Given the description of an element on the screen output the (x, y) to click on. 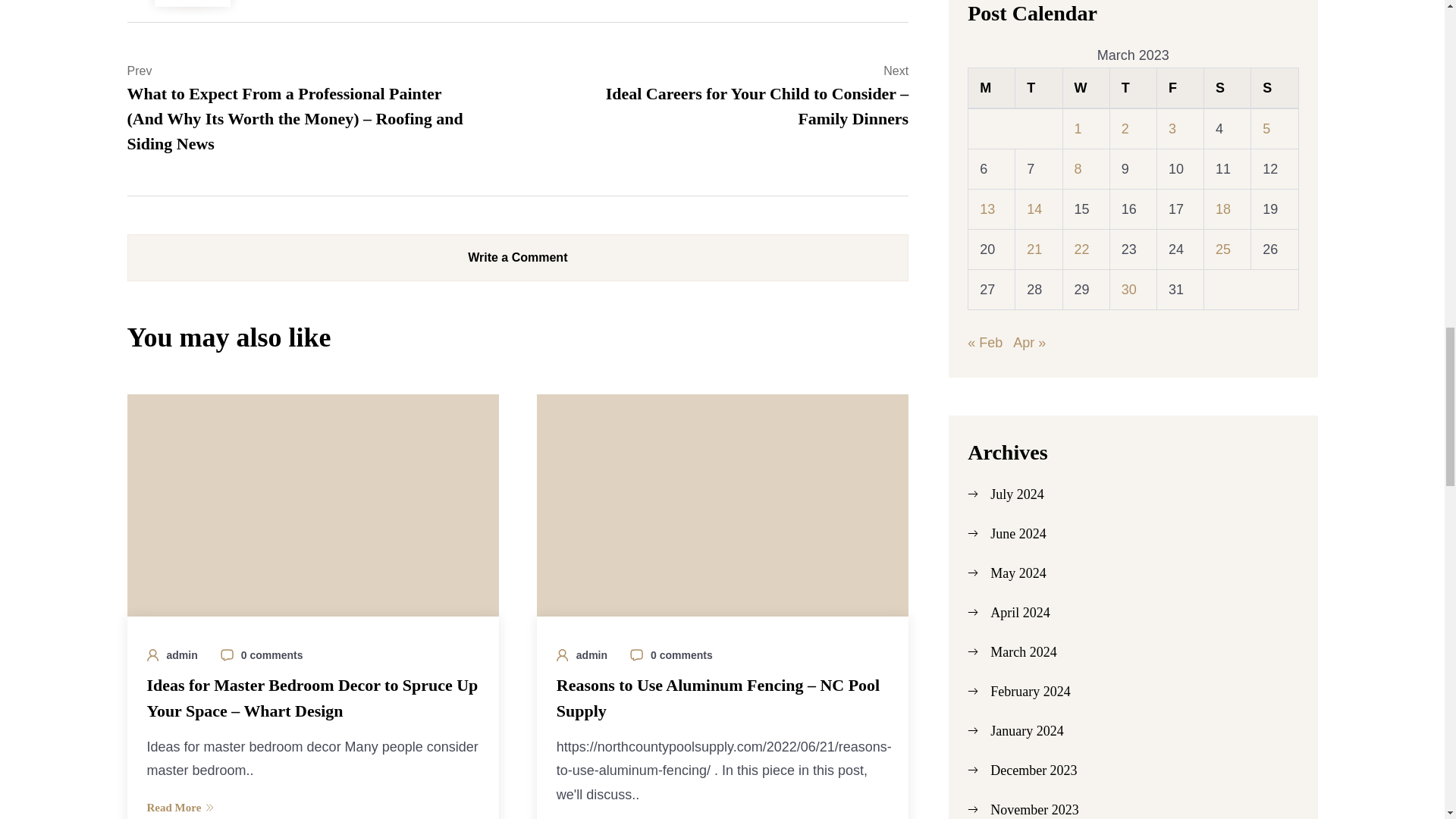
Friday (1180, 87)
Tuesday (1038, 87)
Read More (313, 807)
14 (1034, 209)
Monday (991, 87)
Thursday (1132, 87)
Wednesday (1085, 87)
Sunday (1274, 87)
admin (591, 654)
admin (182, 654)
Write a Comment (518, 257)
Saturday (1227, 87)
13 (986, 209)
18 (1222, 209)
